Given the description of an element on the screen output the (x, y) to click on. 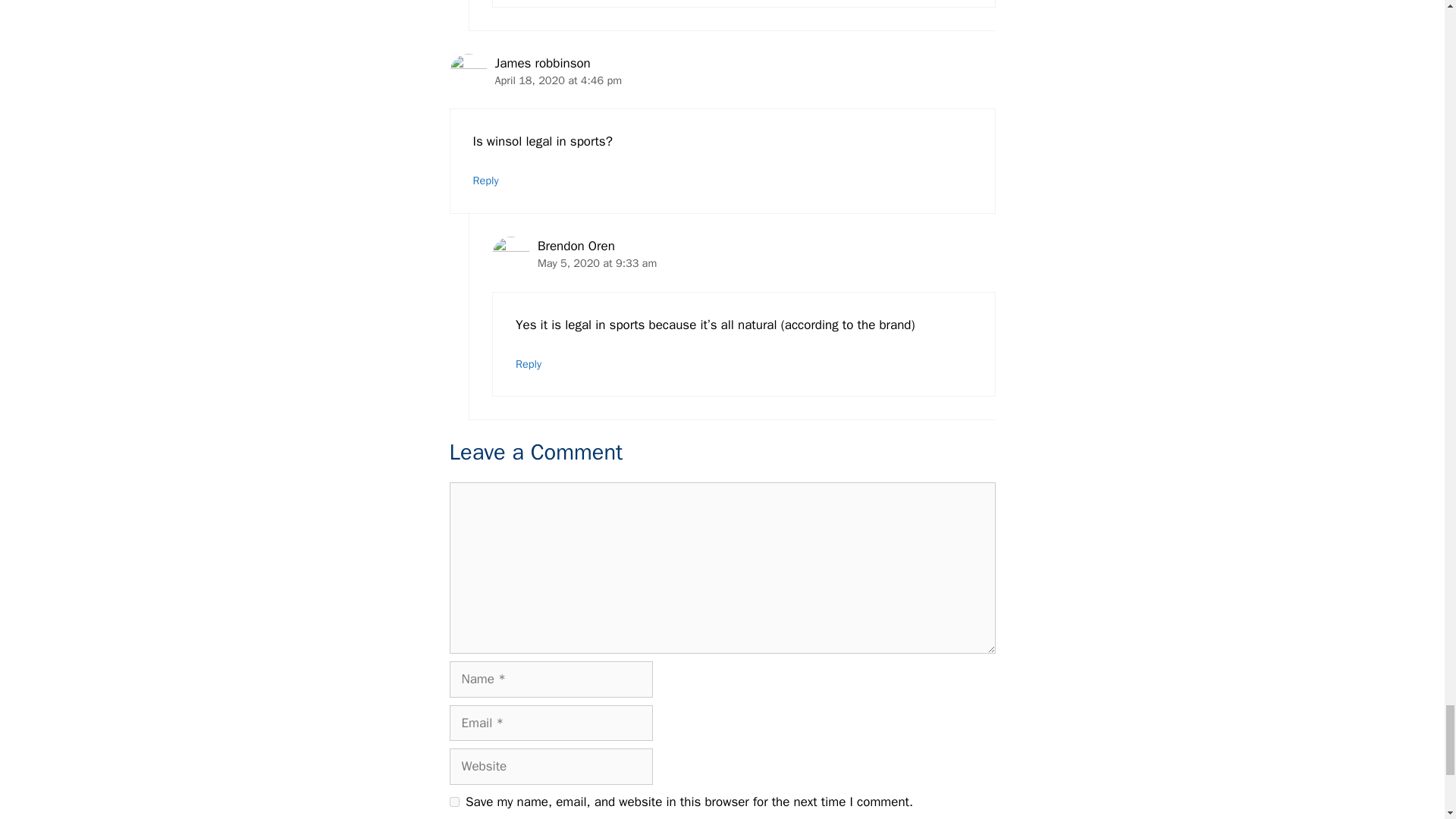
yes (453, 801)
